Given the description of an element on the screen output the (x, y) to click on. 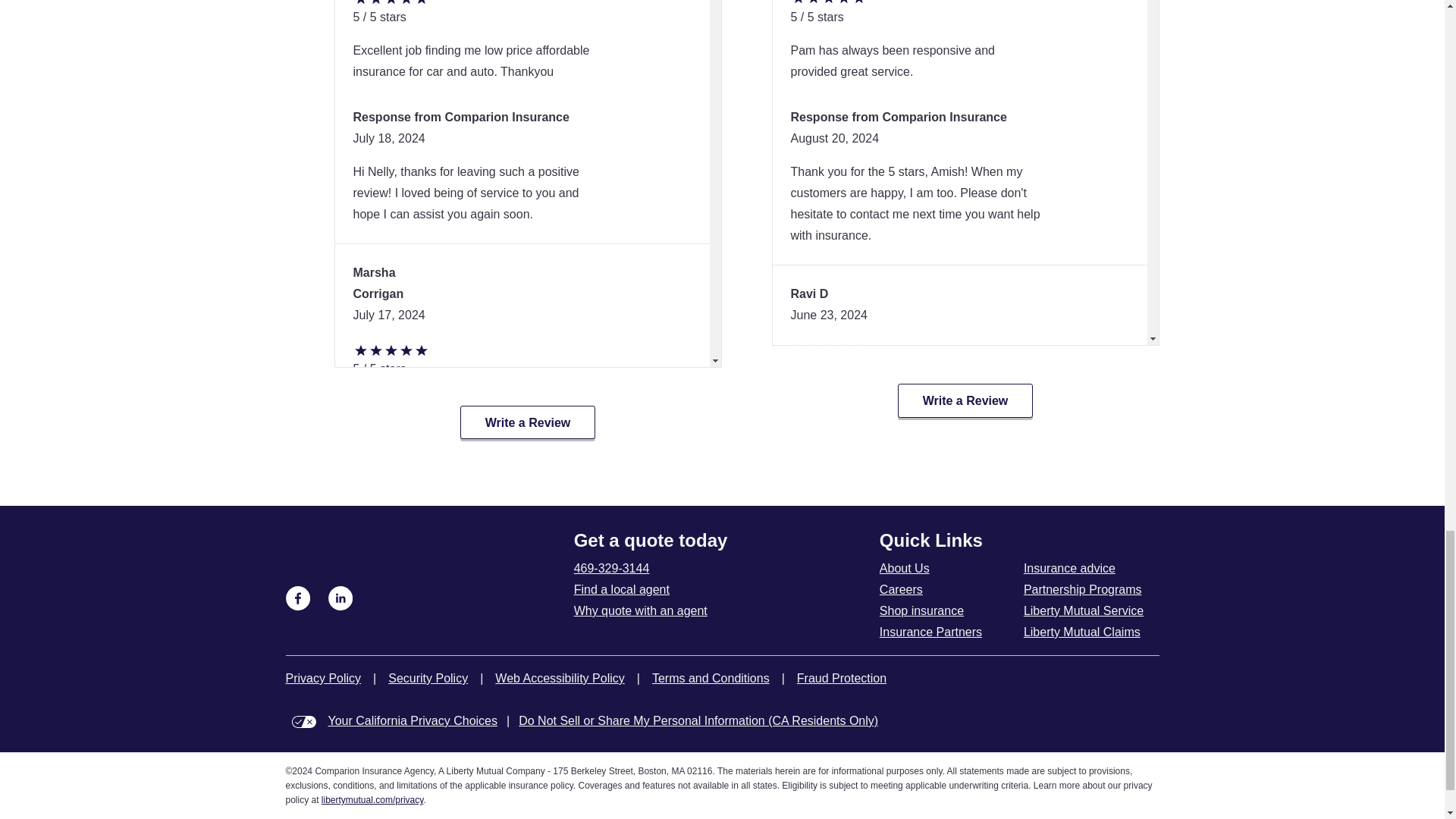
Find a local agent (621, 589)
Write a Review (965, 400)
Web Accessibility Policy (559, 678)
Why quote with an agent (640, 610)
Careers (901, 589)
Security Policy (427, 678)
Insurance Partners (930, 631)
Liberty Mutual Service (1082, 610)
Partnership Programs (1082, 589)
Write a Review (527, 422)
